Given the description of an element on the screen output the (x, y) to click on. 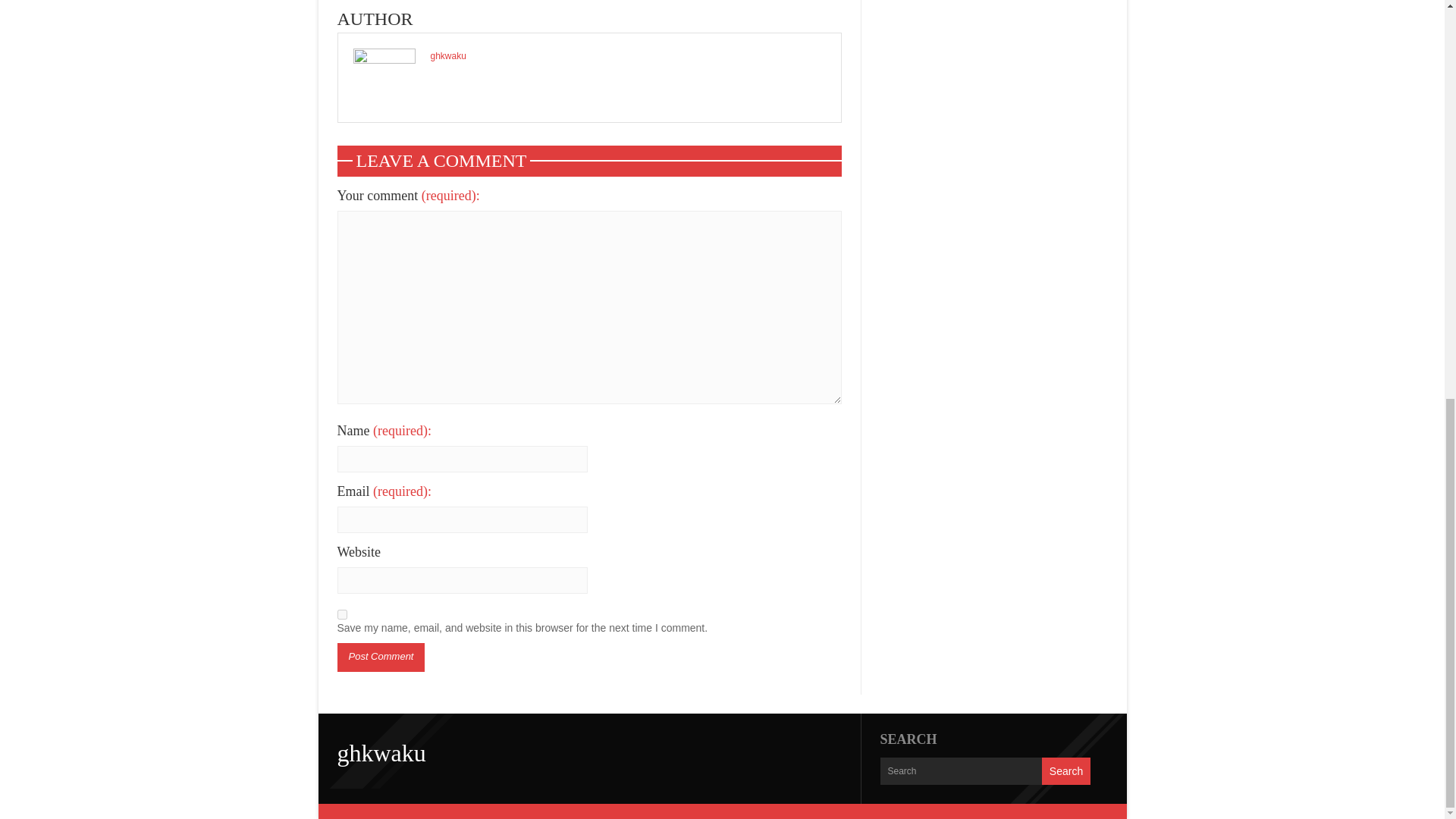
Post Comment (380, 656)
Search (1066, 770)
ghkwaku (380, 752)
Post Comment (380, 656)
Search (1066, 770)
yes (341, 614)
ghkwaku (447, 55)
